Given the description of an element on the screen output the (x, y) to click on. 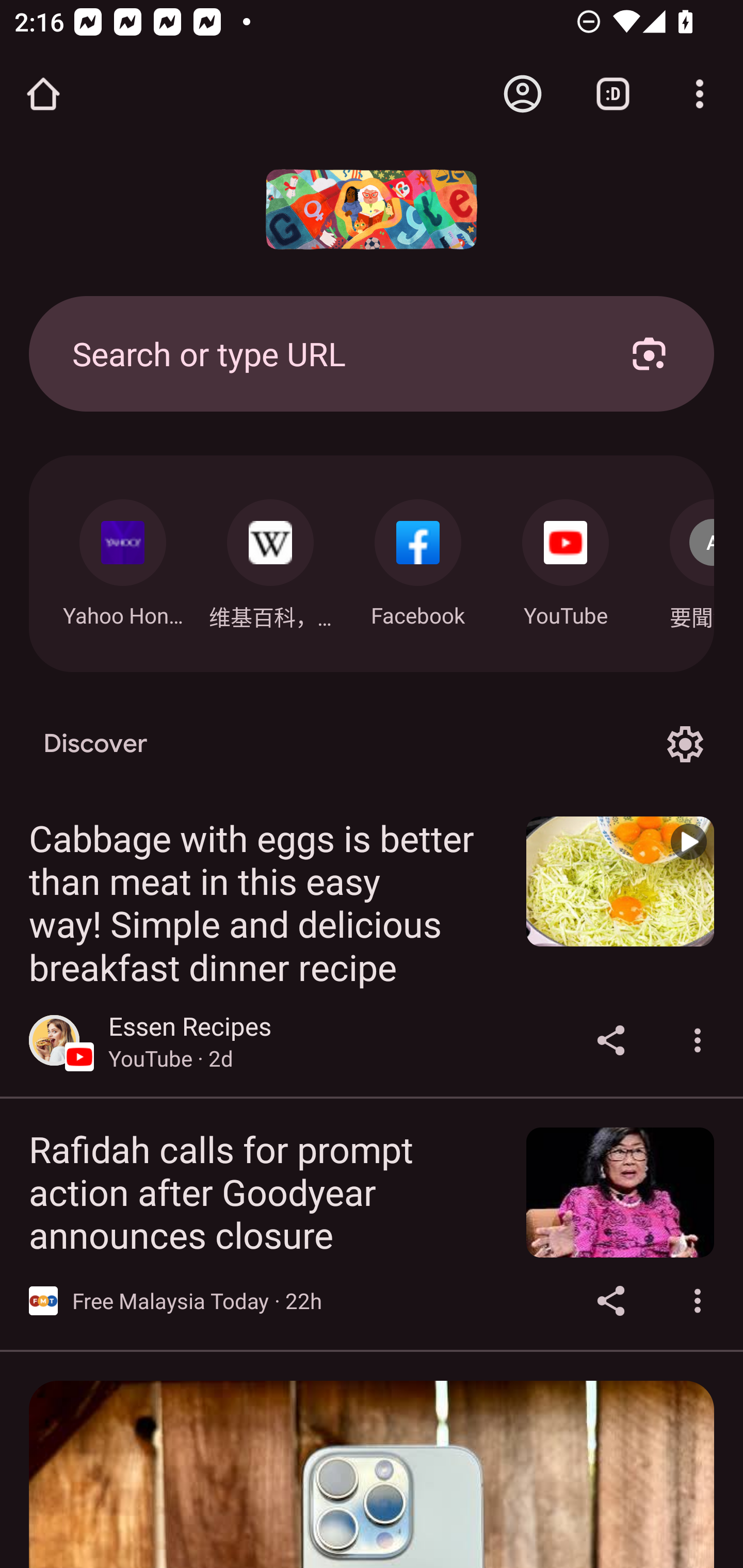
Open the home page (43, 93)
Switch or close tabs (612, 93)
Customize and control Google Chrome (699, 93)
Google doodle: 2024 年國際婦女節 (371, 209)
Search or type URL (327, 353)
Search with your camera using Google Lens (648, 353)
Navigate: Facebook: m.facebook.com Facebook (417, 558)
Navigate: YouTube: m.youtube.com YouTube (565, 558)
Navigate: 要聞港聞: hk.news.appledaily.com 要聞港聞 (677, 558)
Options for Discover (684, 743)
